Given the description of an element on the screen output the (x, y) to click on. 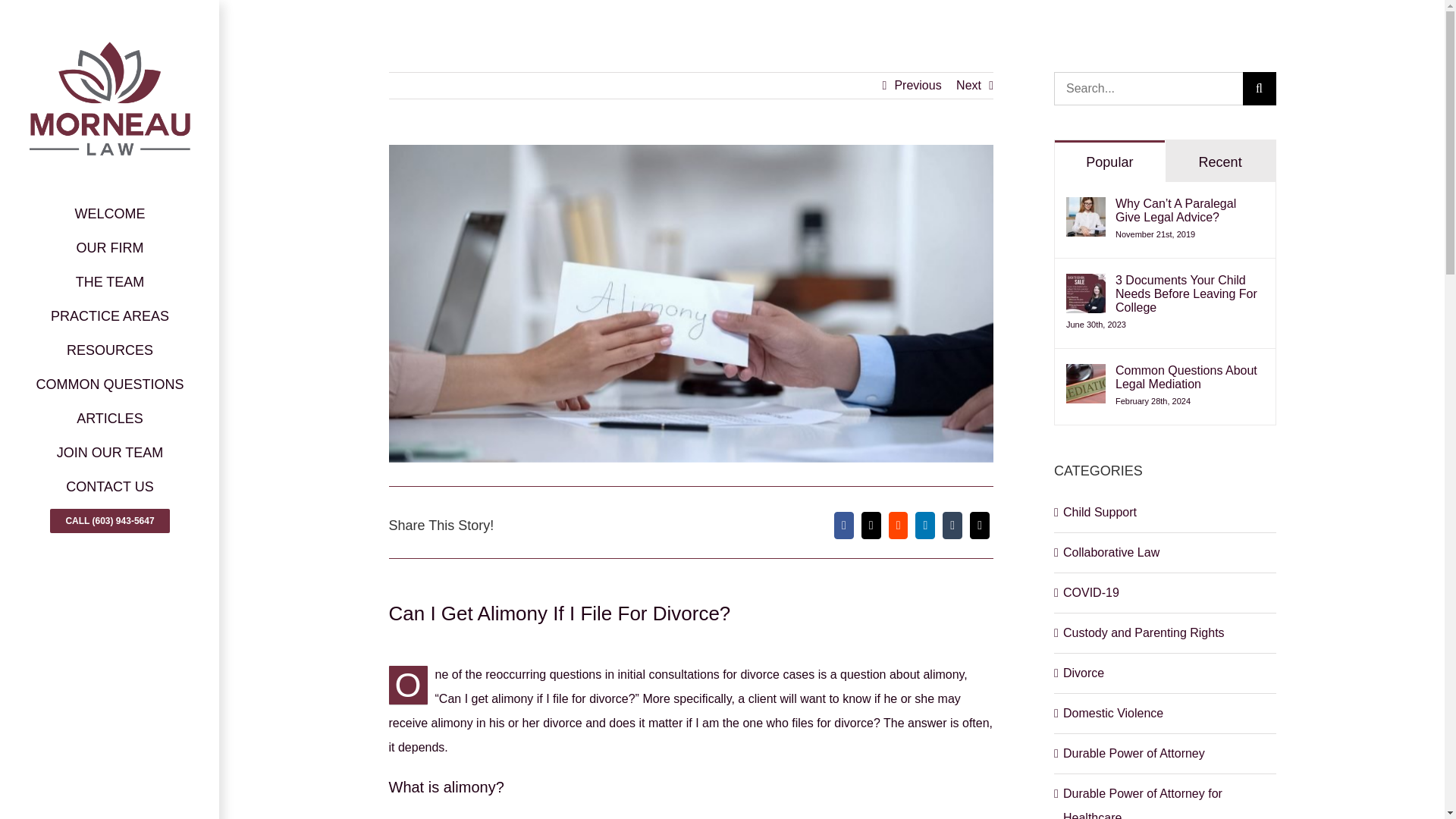
COMMON QUESTIONS (109, 384)
RESOURCES (109, 350)
THE TEAM (109, 282)
JOIN OUR TEAM (109, 452)
OUR FIRM (109, 247)
PRACTICE AREAS (109, 316)
CONTACT US (109, 487)
ARTICLES (109, 418)
WELCOME (109, 213)
